Given the description of an element on the screen output the (x, y) to click on. 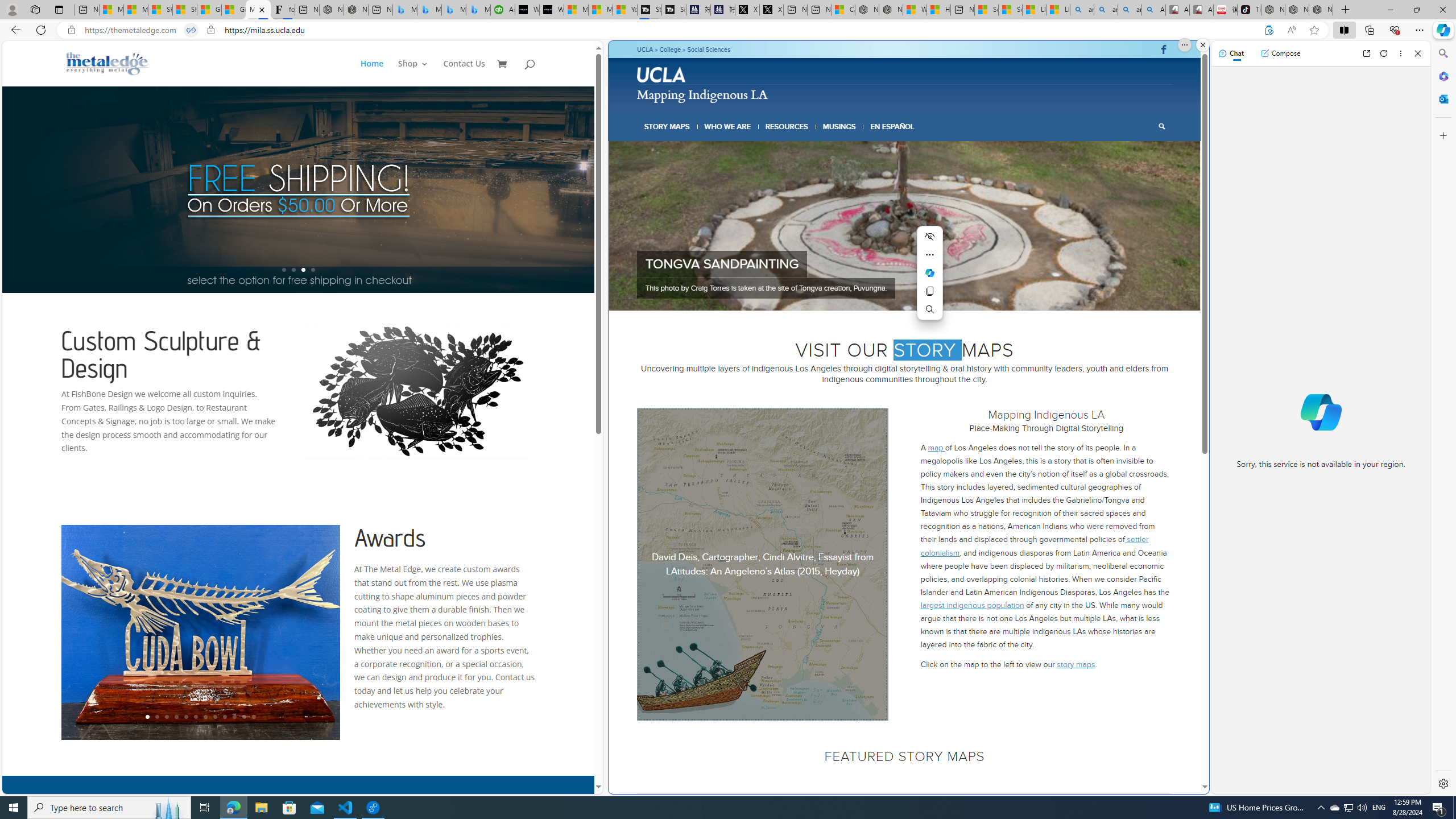
Copy (929, 290)
Read aloud this page (Ctrl+Shift+U) (1291, 29)
Browser essentials (1394, 29)
Workspaces (34, 9)
Gilma and Hector both pose tropical trouble for Hawaii (233, 9)
7 (927, 296)
6 (918, 296)
Address and search bar (669, 29)
Social Sciences (708, 49)
Personal Profile (12, 9)
3 (890, 296)
Minimize (1390, 9)
Compose (1280, 52)
